Given the description of an element on the screen output the (x, y) to click on. 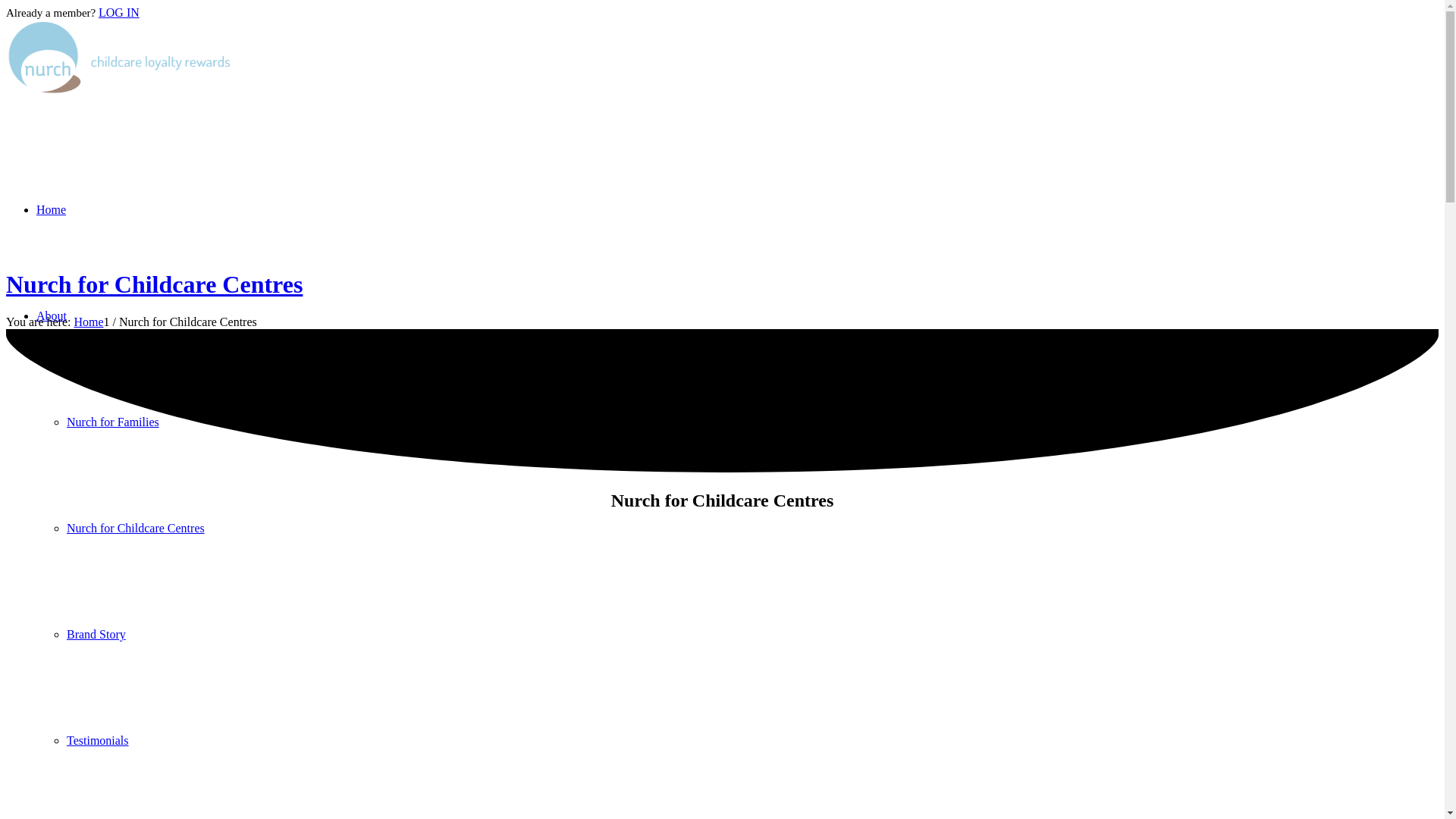
Nurch for Childcare Centres Element type: text (154, 284)
About Element type: text (51, 315)
Home Element type: text (88, 321)
Testimonials Element type: text (97, 740)
Brand Story Element type: text (95, 633)
Nurch for Childcare Centres Element type: text (135, 527)
Nurch-logo-header Element type: hover (119, 57)
Nurch for Families Element type: text (112, 421)
LOG IN Element type: text (118, 12)
Home Element type: text (50, 209)
